Given the description of an element on the screen output the (x, y) to click on. 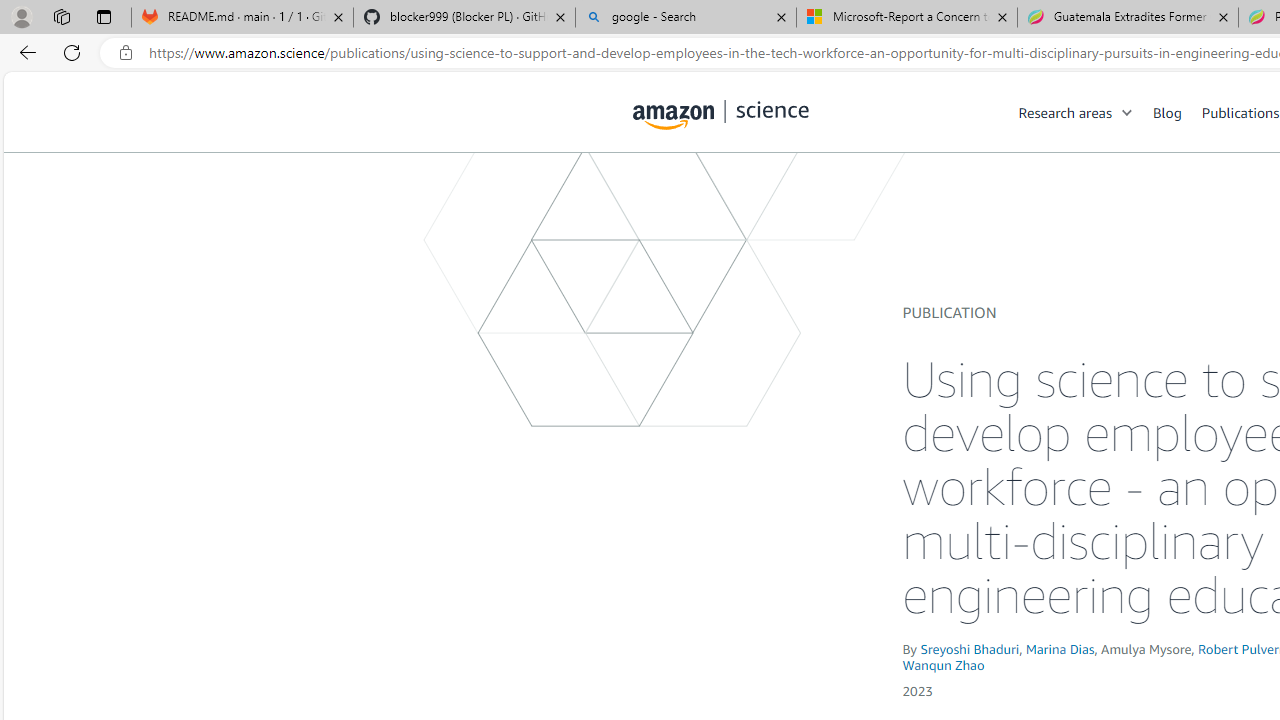
Marina Dias (1059, 648)
Wanqun Zhao (943, 664)
amazon-science-logo.svg (721, 115)
Research areas (1065, 111)
Class: icon-magnify (654, 192)
Class: chevron (1128, 116)
Sreyoshi Bhaduri (970, 648)
home page (721, 110)
